Given the description of an element on the screen output the (x, y) to click on. 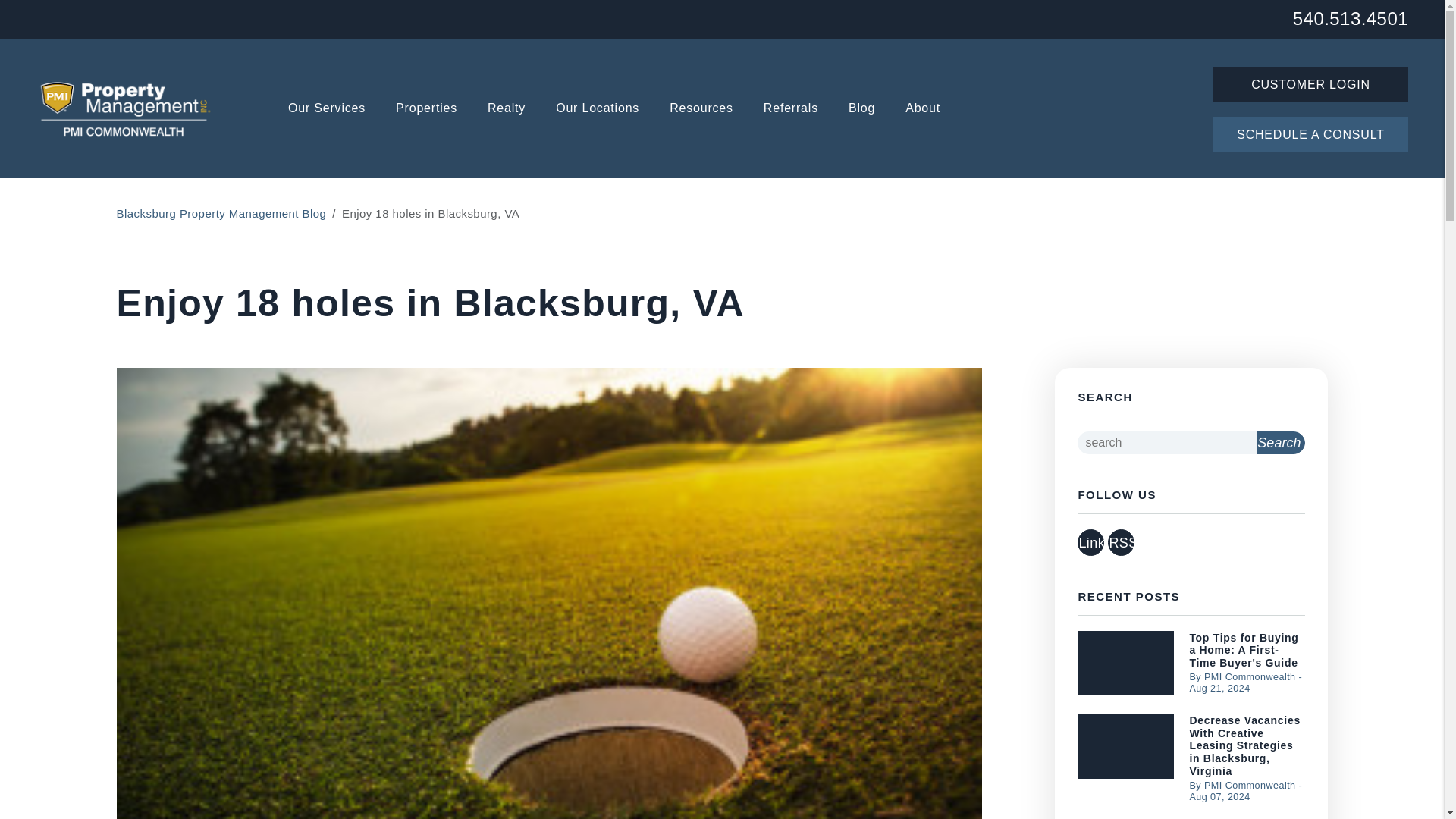
opens in a new window (1090, 542)
Our Services (326, 108)
SCHEDULE A CONSULT (1309, 134)
At least 3 characters (1166, 442)
CUSTOMER LOGIN (1309, 83)
opens in a new window (1121, 542)
Realty (506, 108)
Properties (426, 108)
540.513.4501 (1349, 17)
